Given the description of an element on the screen output the (x, y) to click on. 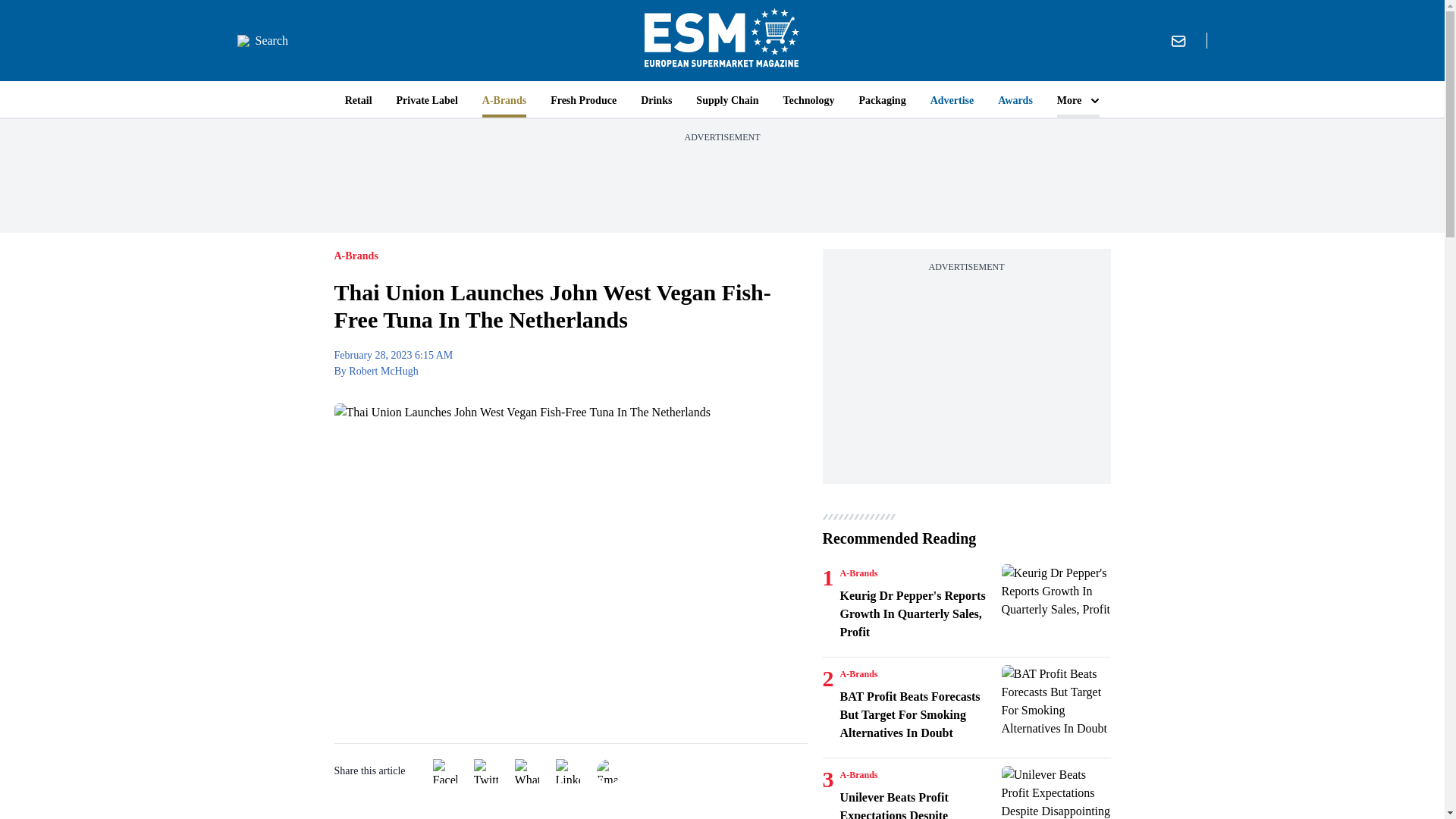
Keurig Dr Pepper's Reports Growth In Quarterly Sales, Profit (1055, 600)
A-Brands (858, 674)
Search (261, 40)
ESM (722, 40)
Keurig Dr Pepper's Reports Growth In Quarterly Sales, Profit (917, 614)
A-Brands (858, 775)
A-Brands (858, 573)
